Given the description of an element on the screen output the (x, y) to click on. 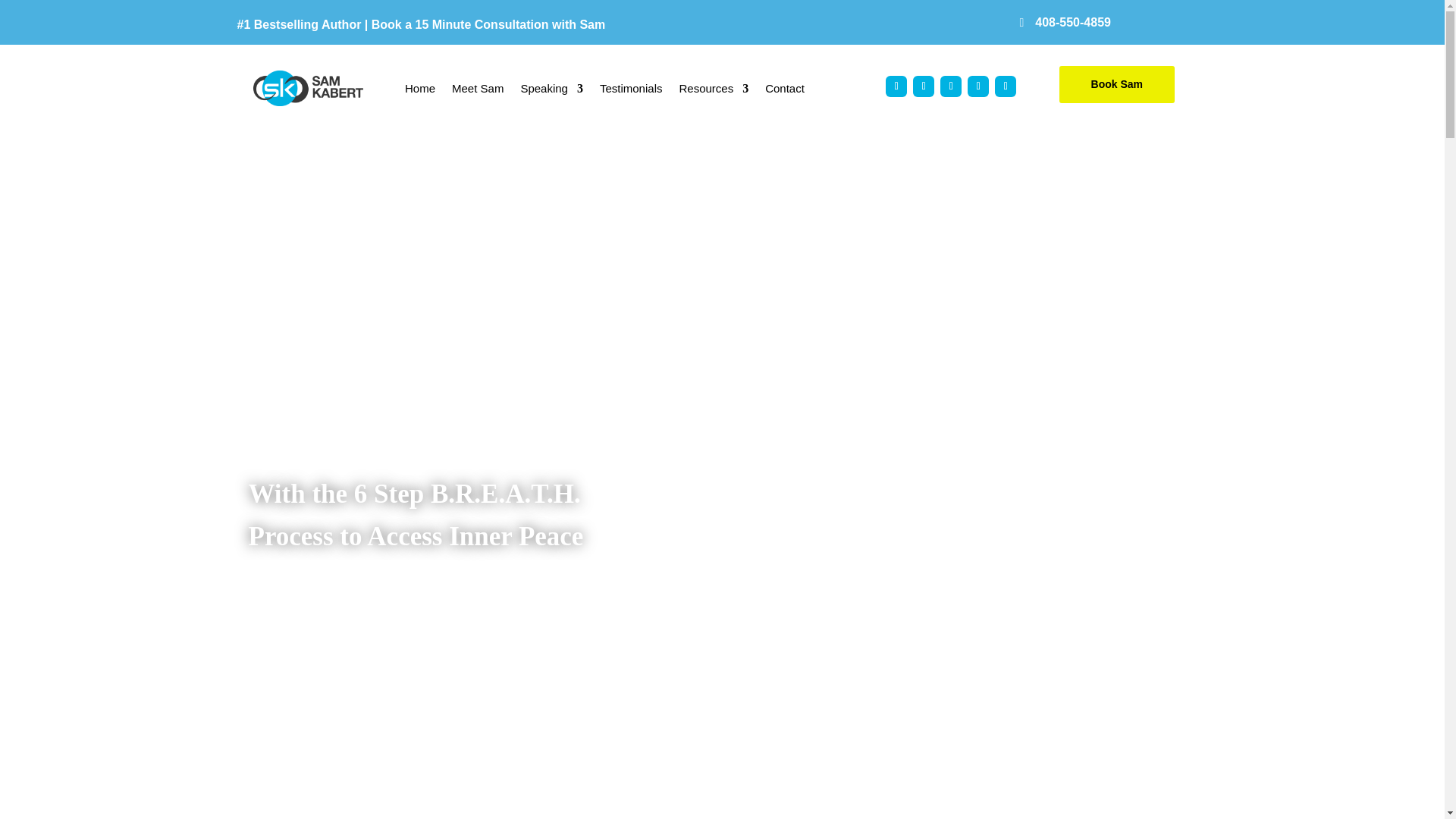
Follow on Facebook (950, 86)
Follow on Youtube (978, 86)
Book Sam (1116, 85)
Follow on LinkedIn (923, 86)
Testimonials (630, 88)
Speaking (551, 88)
Follow on Spotify (1005, 86)
Meet Sam (477, 88)
Follow on Instagram (896, 86)
408-550-4859 (1077, 22)
Resources (713, 88)
